Given the description of an element on the screen output the (x, y) to click on. 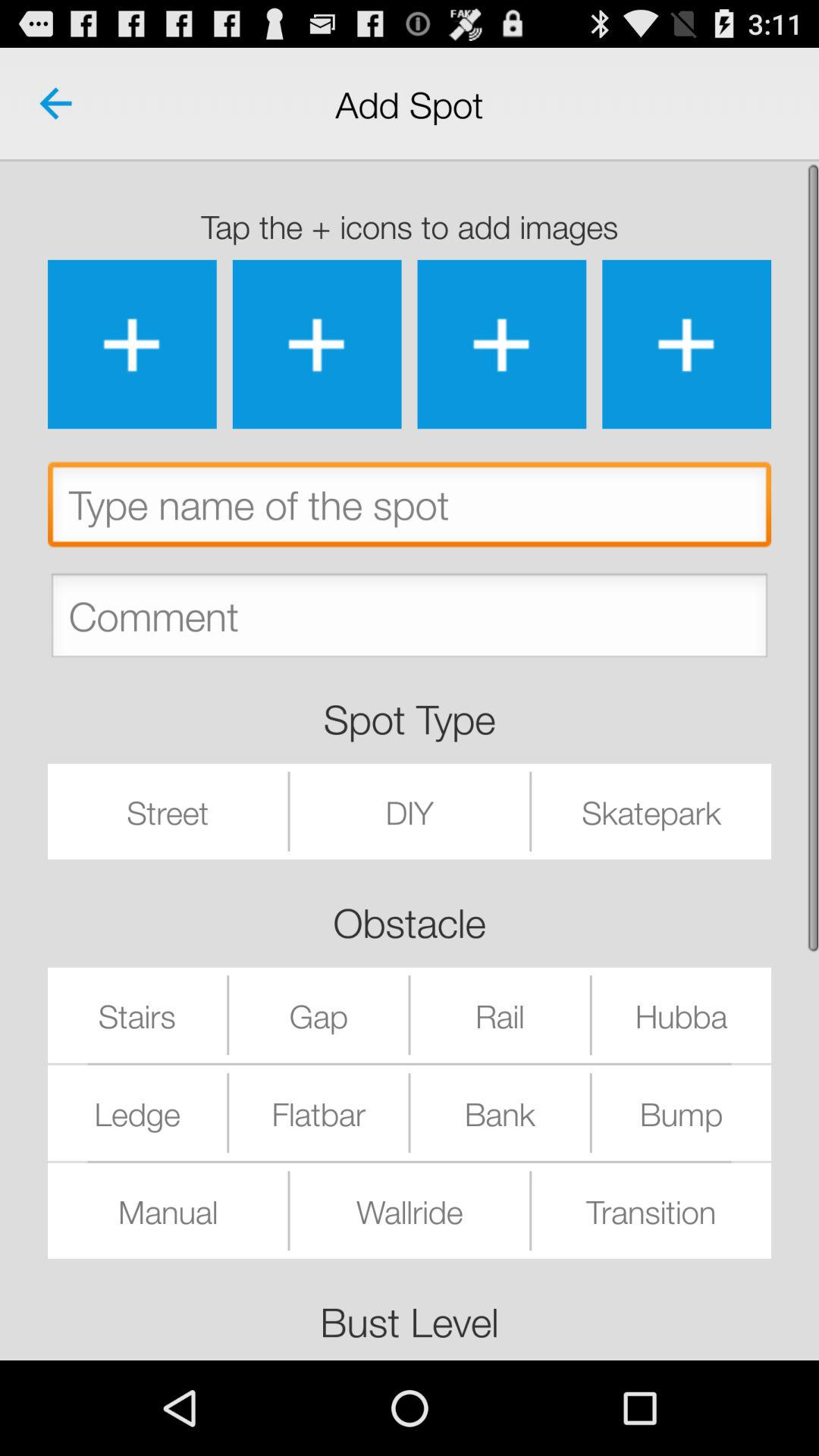
flip to manual item (167, 1210)
